Given the description of an element on the screen output the (x, y) to click on. 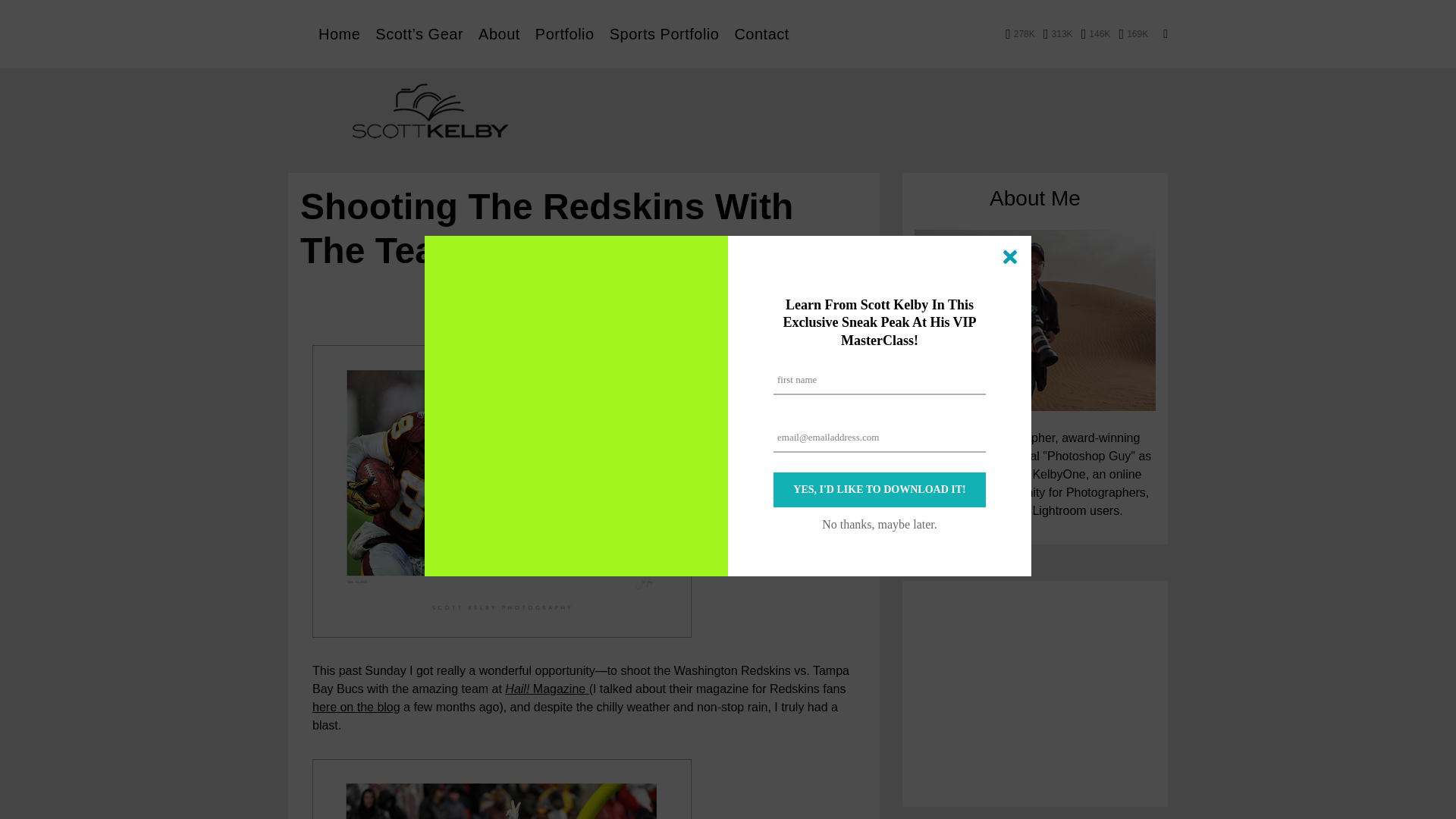
278K (1020, 33)
3rd party ad content (1034, 699)
Sports Portfolio (664, 33)
169K (1133, 33)
Skins2 (502, 789)
3rd party ad content (884, 114)
146K (1095, 33)
313K (1058, 33)
Skins1 (502, 491)
